Given the description of an element on the screen output the (x, y) to click on. 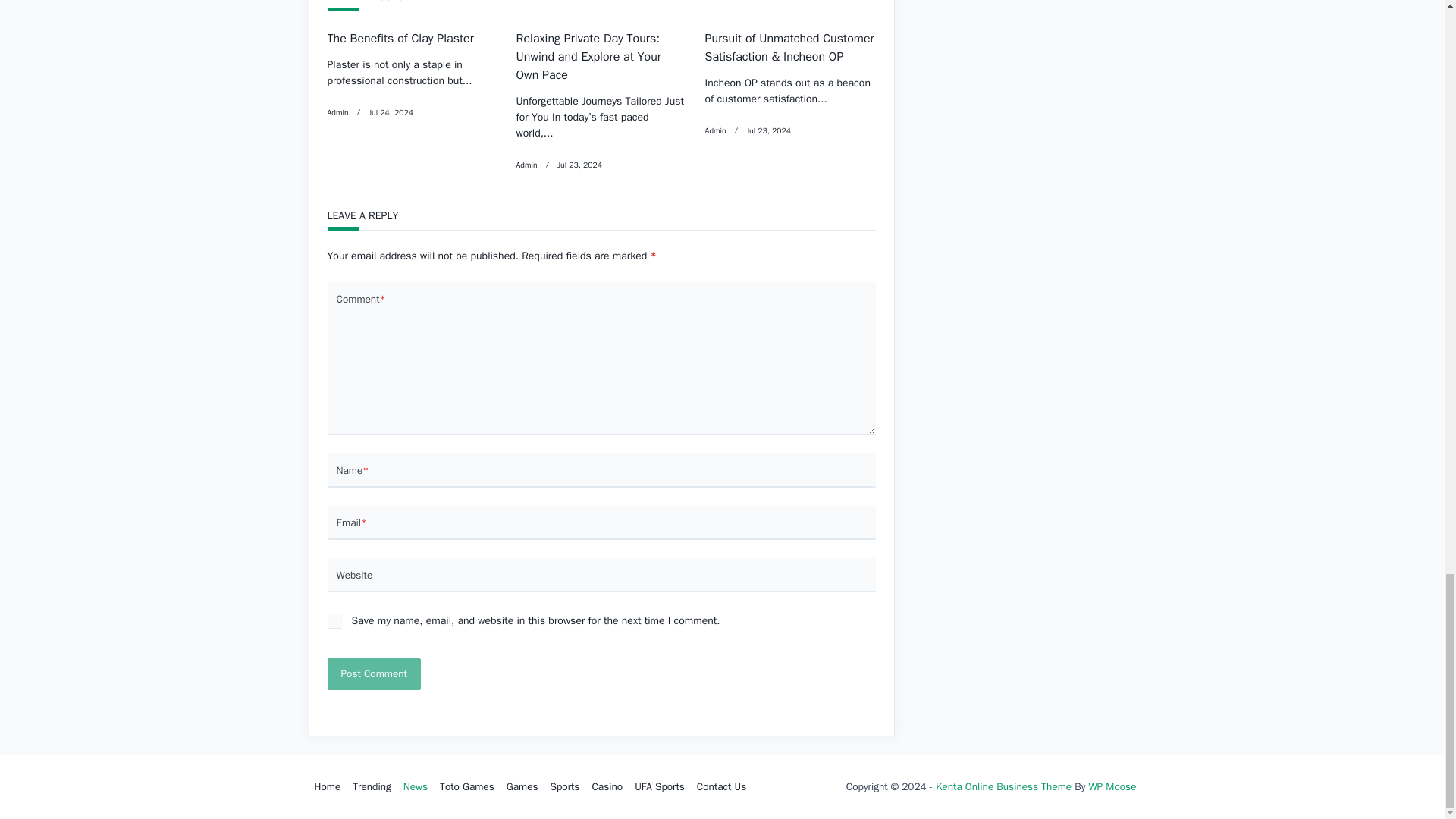
Post Comment (373, 674)
yes (334, 621)
